Given the description of an element on the screen output the (x, y) to click on. 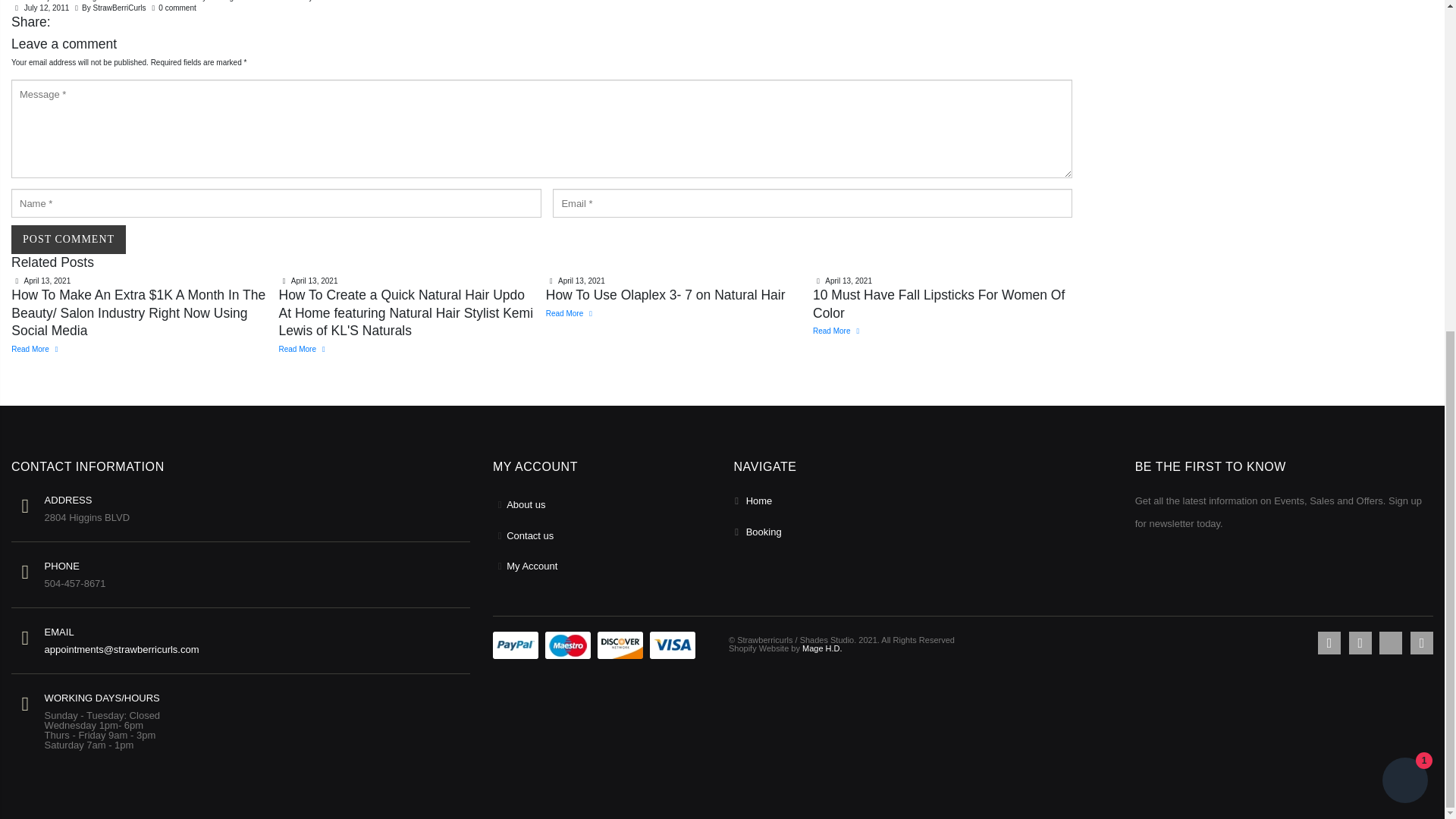
Facebook (1328, 642)
About us (525, 504)
Contact Us (529, 535)
My Account (531, 565)
Pinterest (1390, 642)
Instagram (1421, 642)
Post comment (68, 239)
Twitter (1360, 642)
Post comment (68, 239)
